Given the description of an element on the screen output the (x, y) to click on. 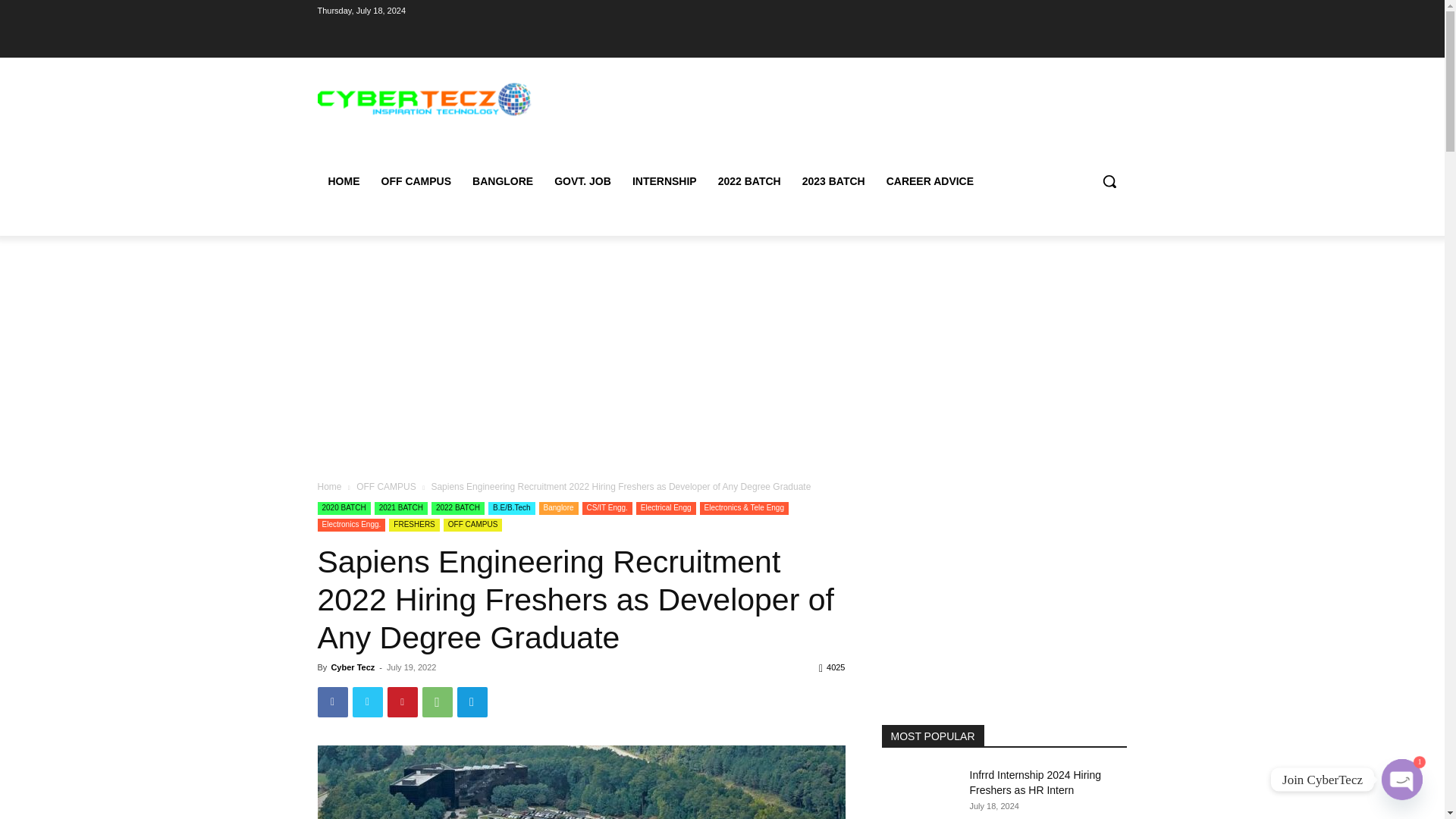
Home (328, 486)
Twitter (366, 702)
BANGLORE (502, 180)
2022 BATCH (749, 180)
OFF CAMPUS (415, 180)
INTERNSHIP (664, 180)
2023 BATCH (834, 180)
Electrical Engg (665, 508)
Electronics Engg. (351, 524)
FRESHERS (413, 524)
HOME (343, 180)
